Given the description of an element on the screen output the (x, y) to click on. 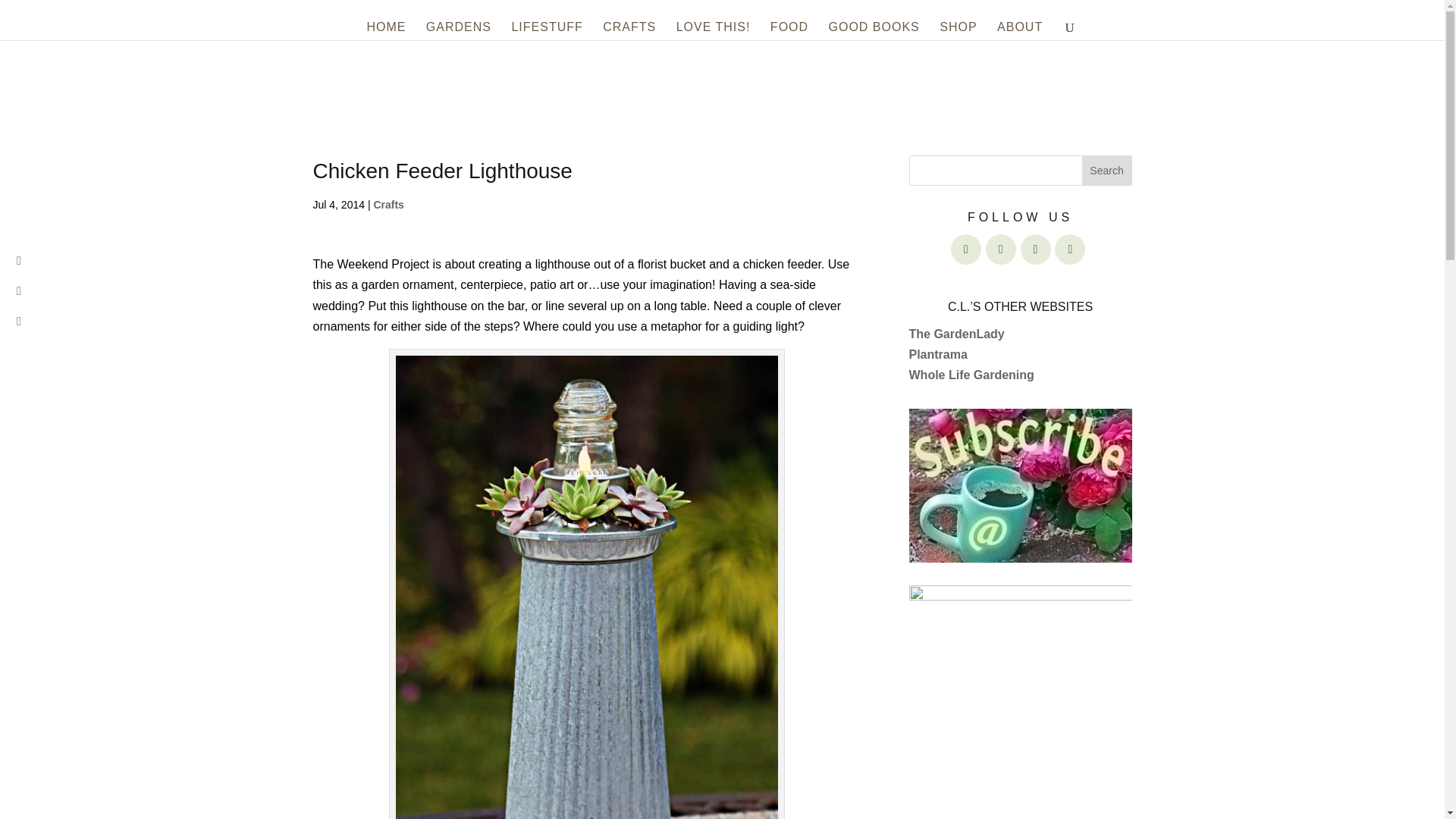
LIFESTUFF (546, 31)
SHOP (957, 31)
Search (1106, 170)
Whole Life Gardening (970, 374)
GOOD BOOKS (874, 31)
ABOUT (1019, 31)
LOVE THIS! (714, 31)
The GardenLady (956, 333)
Crafts (387, 204)
GARDENS (459, 31)
Search (1106, 170)
Signup for The Garden Lady's Newsletter (1019, 485)
CRAFTS (629, 31)
FOOD (789, 31)
HOME (386, 31)
